Given the description of an element on the screen output the (x, y) to click on. 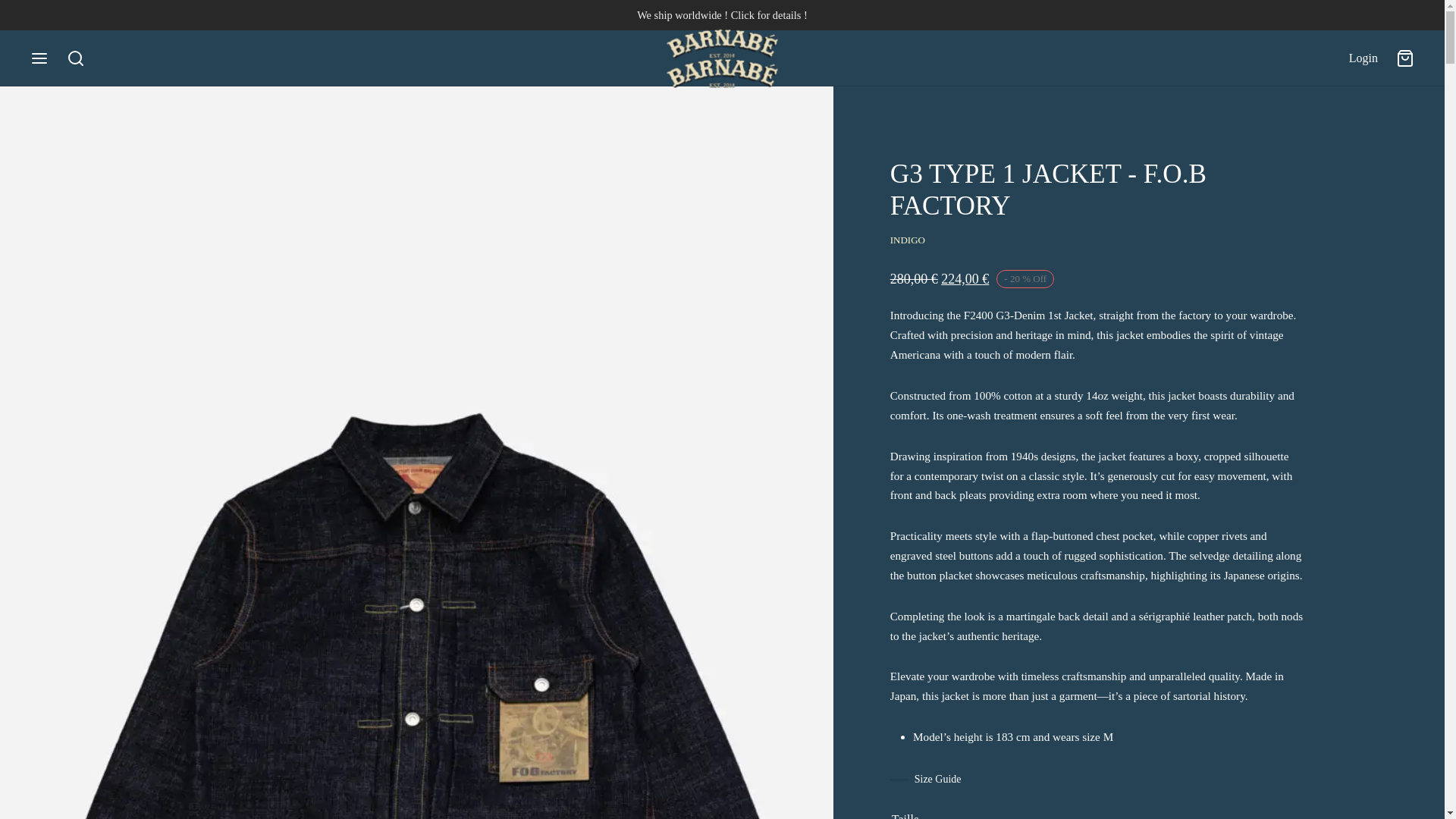
Cart (1404, 58)
Size Guide (924, 779)
Login (1363, 57)
We ship worldwide ! Click for details ! (722, 15)
